Given the description of an element on the screen output the (x, y) to click on. 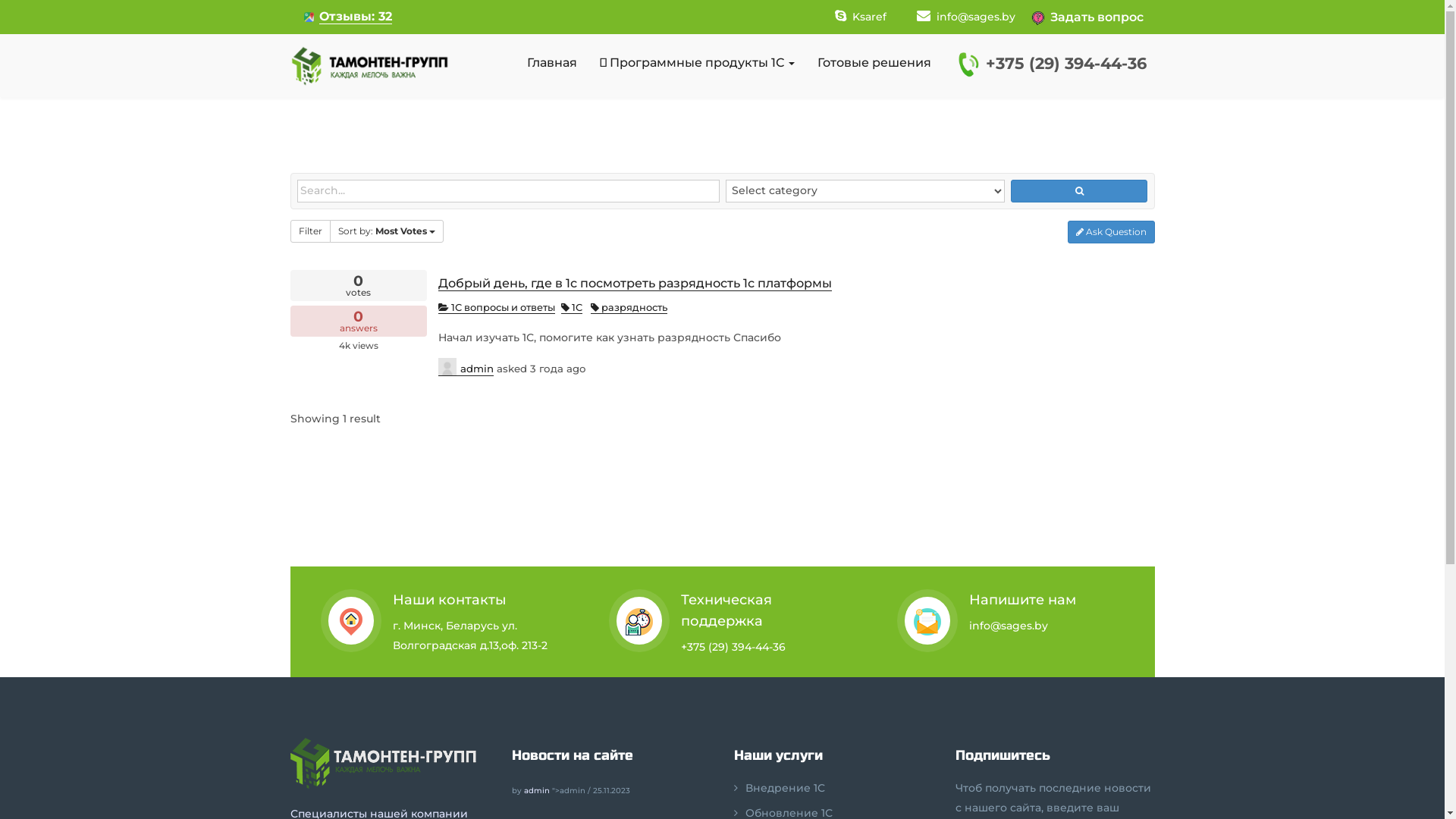
Sort by: Most Votes Element type: text (385, 230)
Ask Question Element type: text (1110, 231)
Ksaref Element type: text (859, 16)
Filter Element type: text (309, 230)
info@sages.by Element type: text (965, 16)
admin Element type: text (536, 790)
admin Element type: text (465, 366)
